Given the description of an element on the screen output the (x, y) to click on. 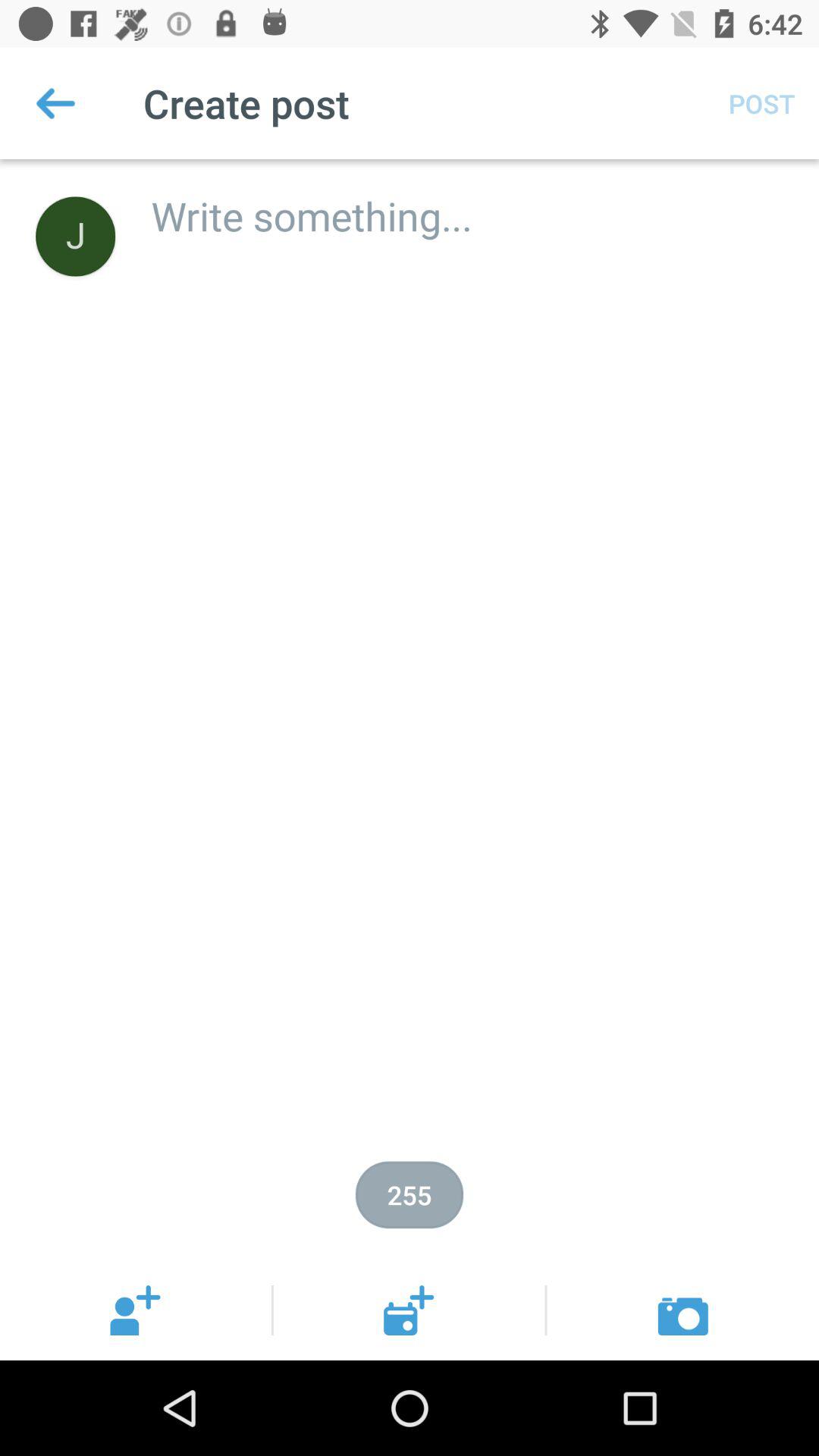
select the icon next to create post item (55, 103)
